Given the description of an element on the screen output the (x, y) to click on. 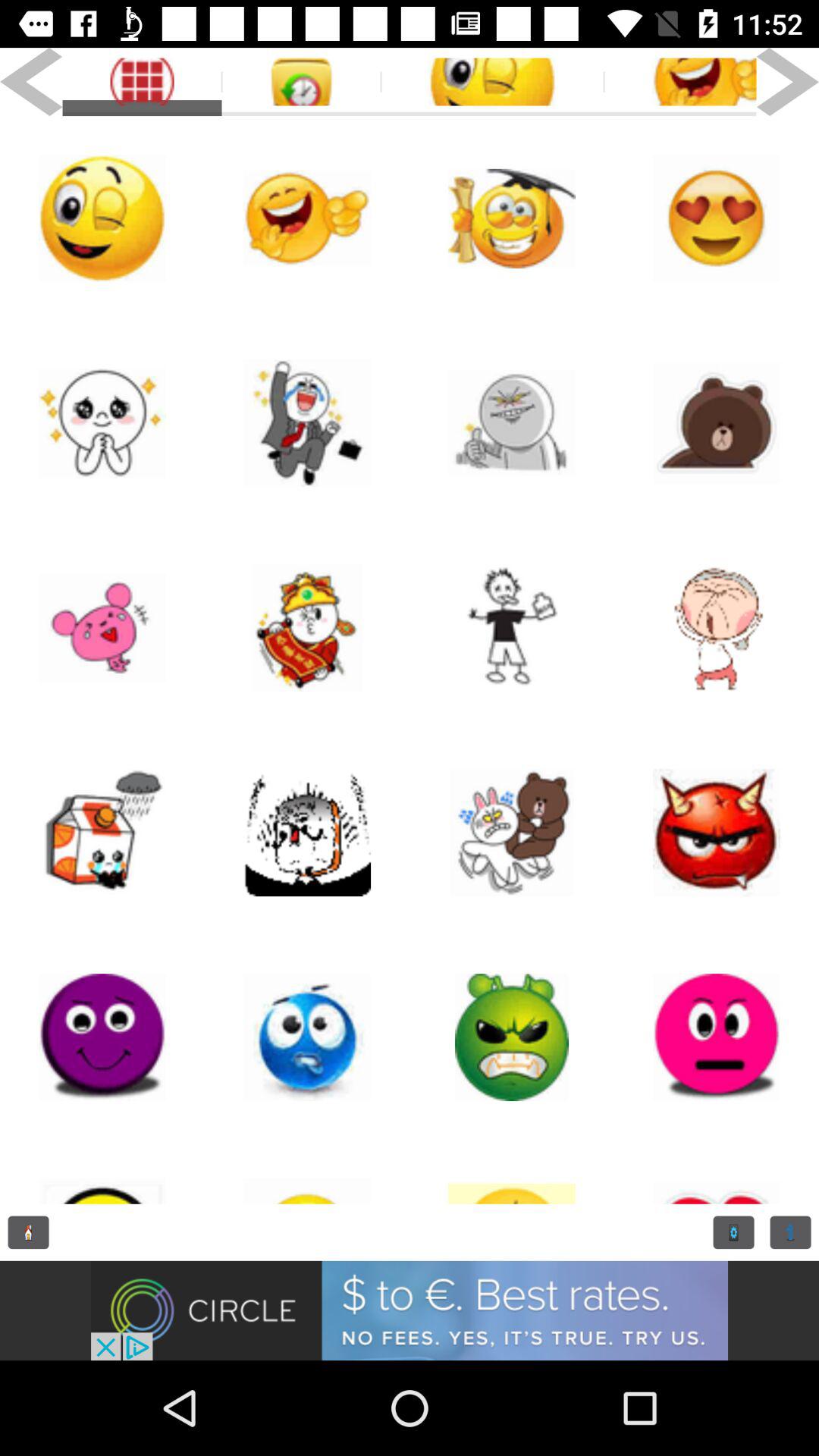
select emoji (306, 218)
